Given the description of an element on the screen output the (x, y) to click on. 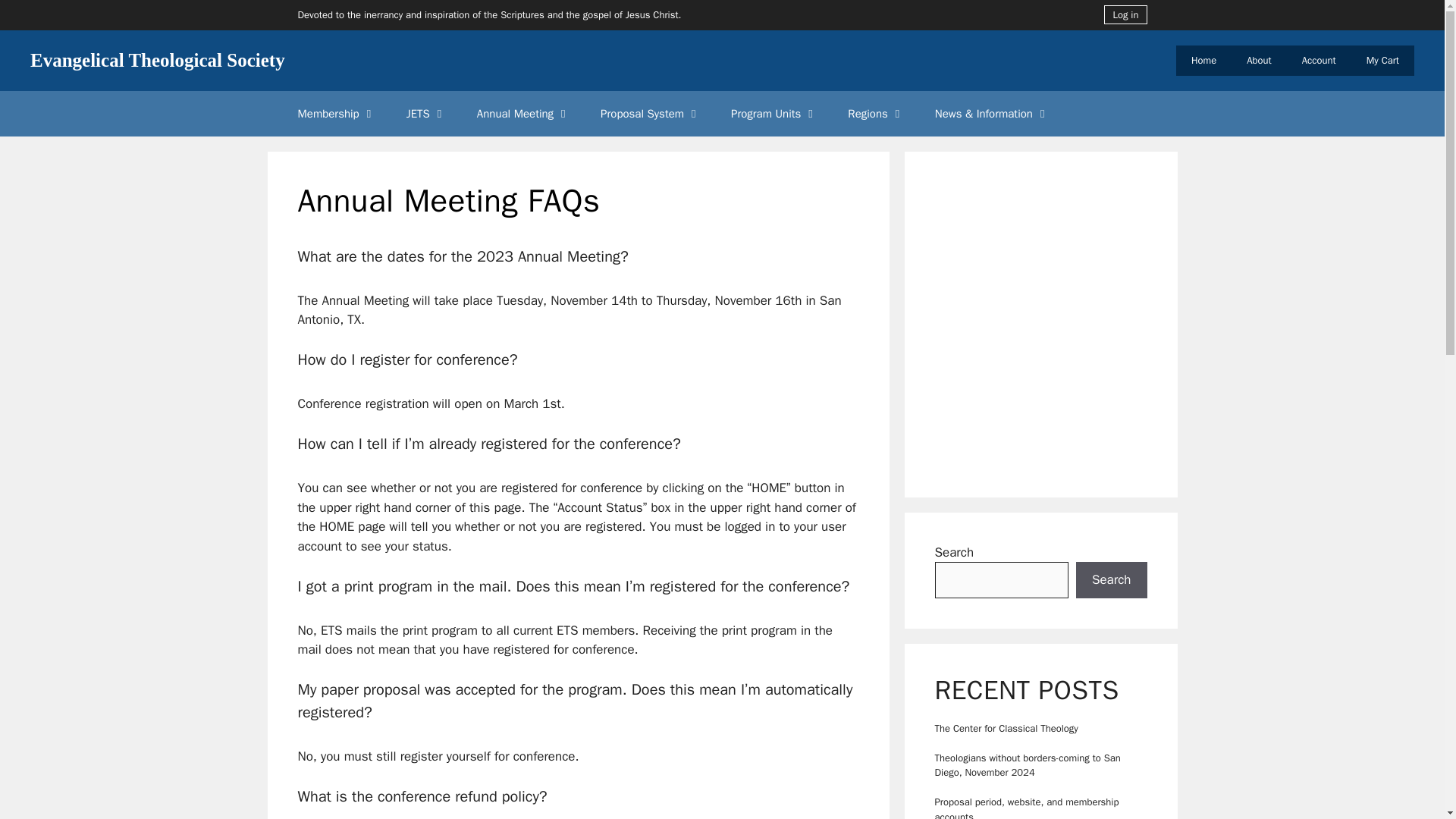
About (1258, 60)
Home (1203, 60)
Log in (1125, 14)
Evangelical Theological Society (157, 59)
Account (1319, 60)
My Cart (1382, 60)
